Given the description of an element on the screen output the (x, y) to click on. 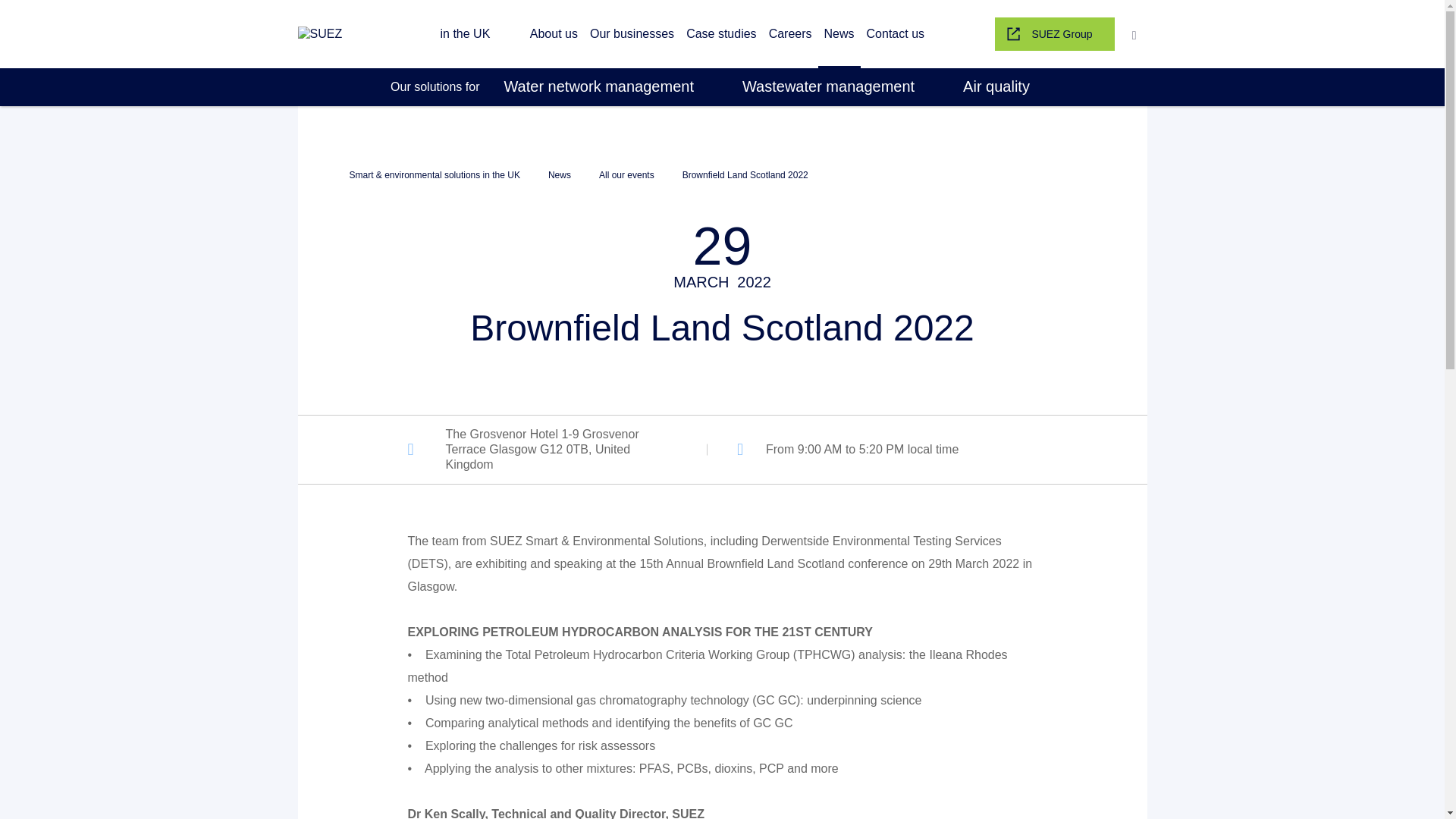
Contact us (895, 33)
in the UK (409, 33)
Wastewater management (828, 86)
SUEZ (363, 33)
SUEZ  (409, 33)
Smart metering (453, 11)
SUEZ Group (1053, 33)
Water network management (598, 86)
Our businesses (631, 33)
Case studies (720, 33)
